Given the description of an element on the screen output the (x, y) to click on. 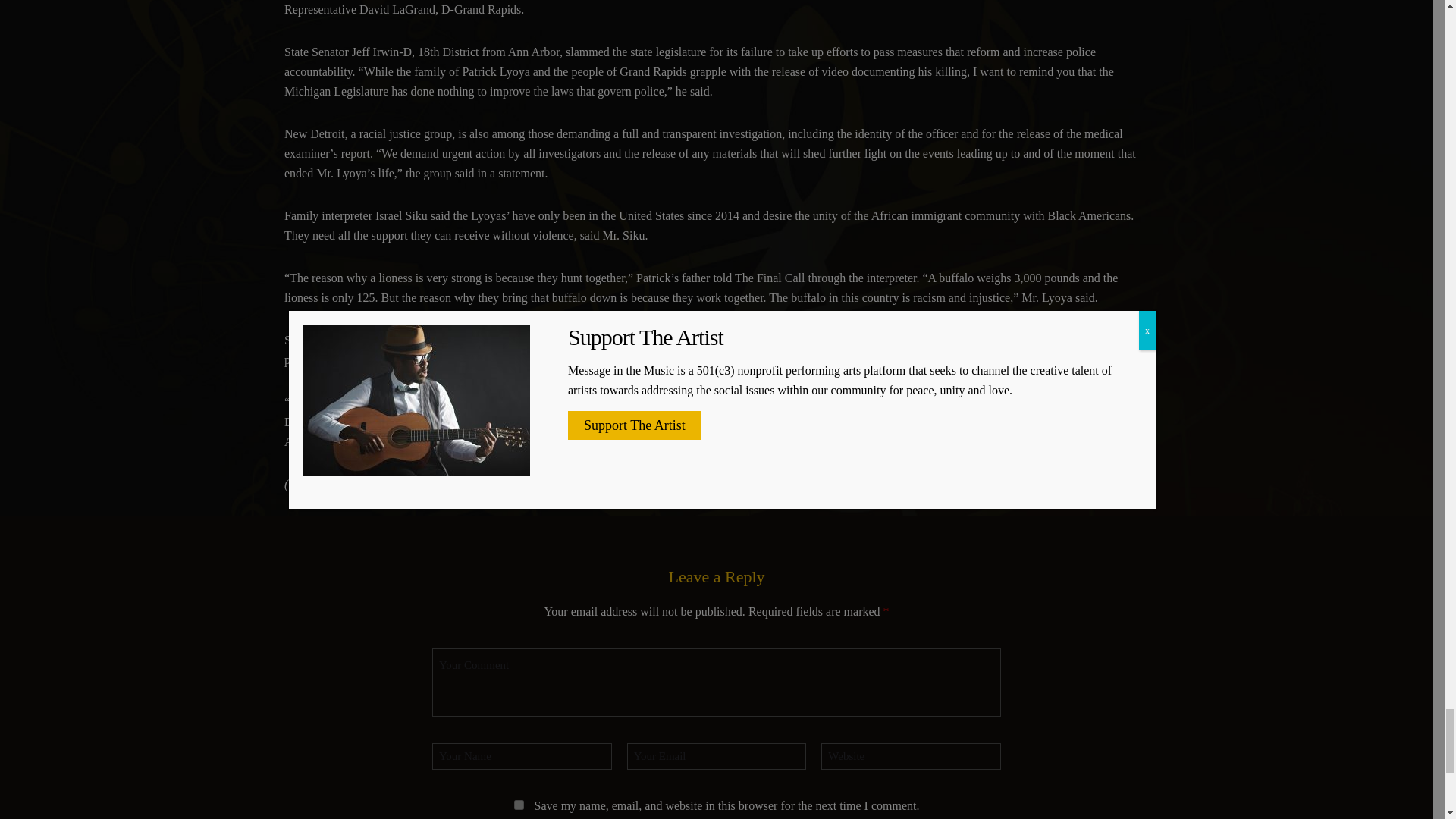
yes (518, 804)
